Given the description of an element on the screen output the (x, y) to click on. 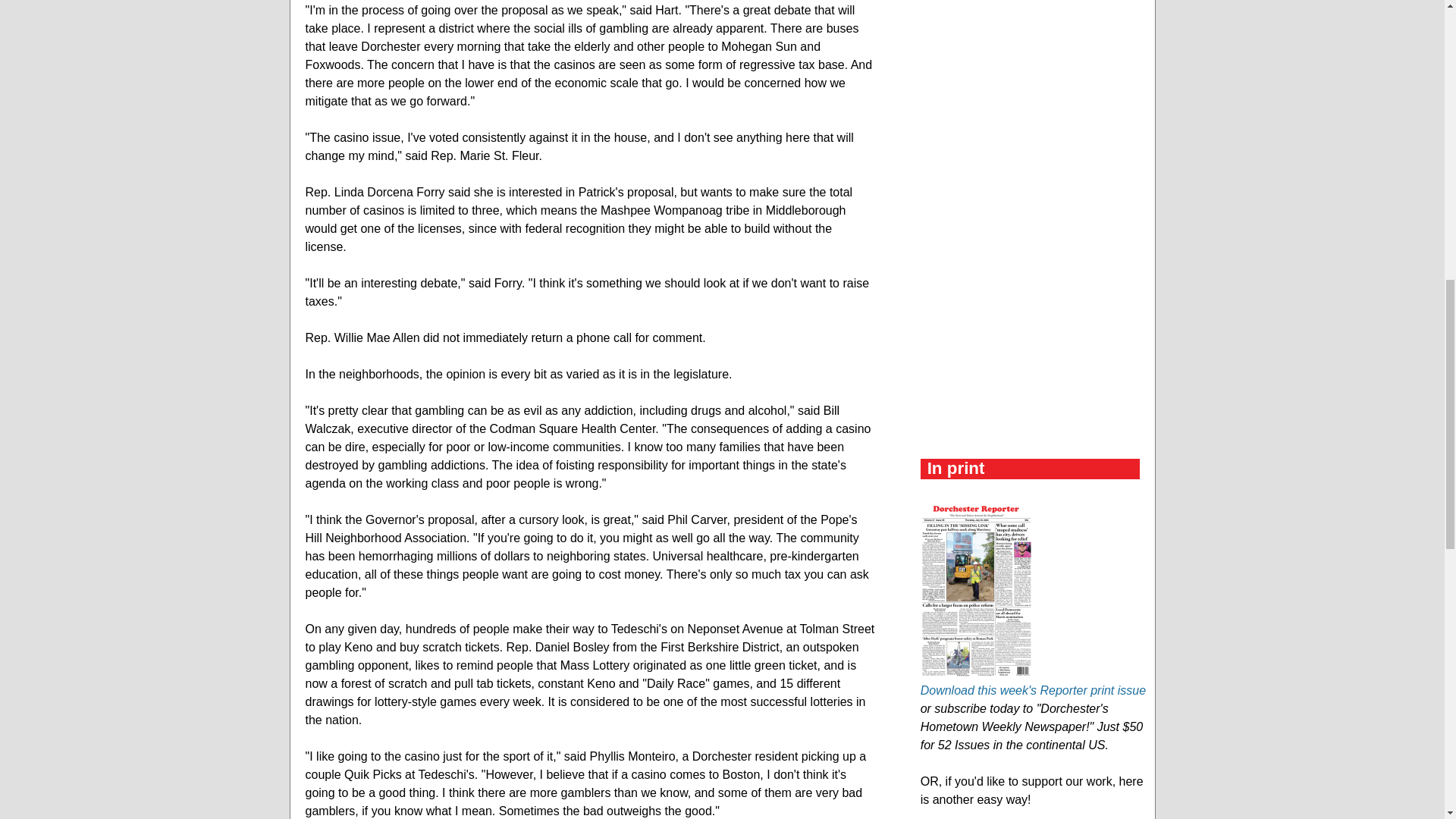
3rd party ad content (1034, 144)
Download this week's Reporter print issue (1032, 689)
